Given the description of an element on the screen output the (x, y) to click on. 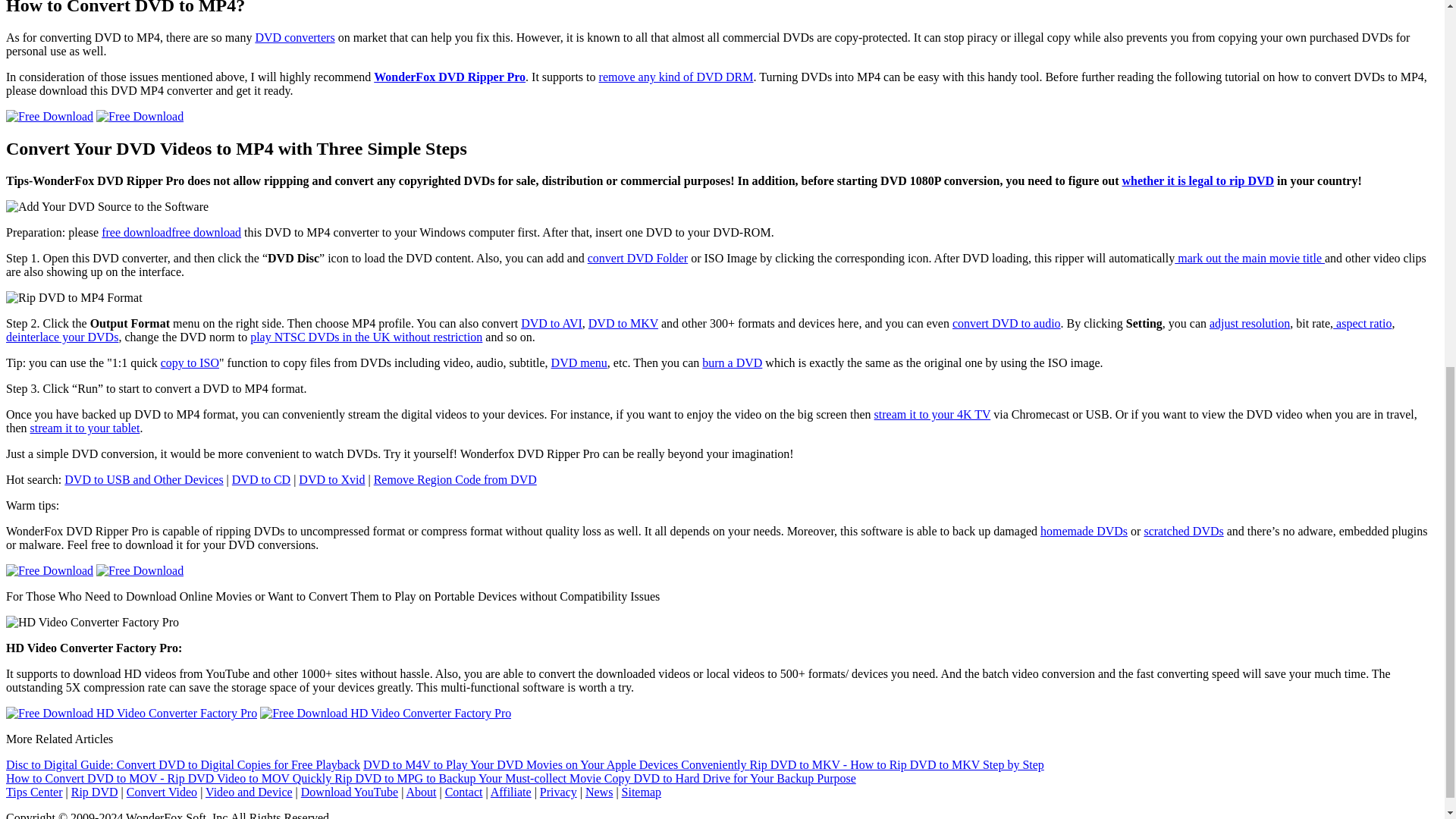
mark out the main movie title (1249, 257)
DVD converters (294, 37)
convert DVD to audio (1006, 323)
remove any kind of DVD DRM (676, 76)
scratched DVDs (1182, 530)
whether it is legal to rip DVD (1197, 180)
convert DVD Folder (637, 257)
WonderFox DVD Ripper Pro (449, 76)
DVD to USB and Other Devices (143, 479)
adjust resolution (1249, 323)
stream it to your tablet (84, 427)
DVD to MKV (623, 323)
DVD to CD (260, 479)
aspect ratio (1362, 323)
homemade DVDs (1083, 530)
